Given the description of an element on the screen output the (x, y) to click on. 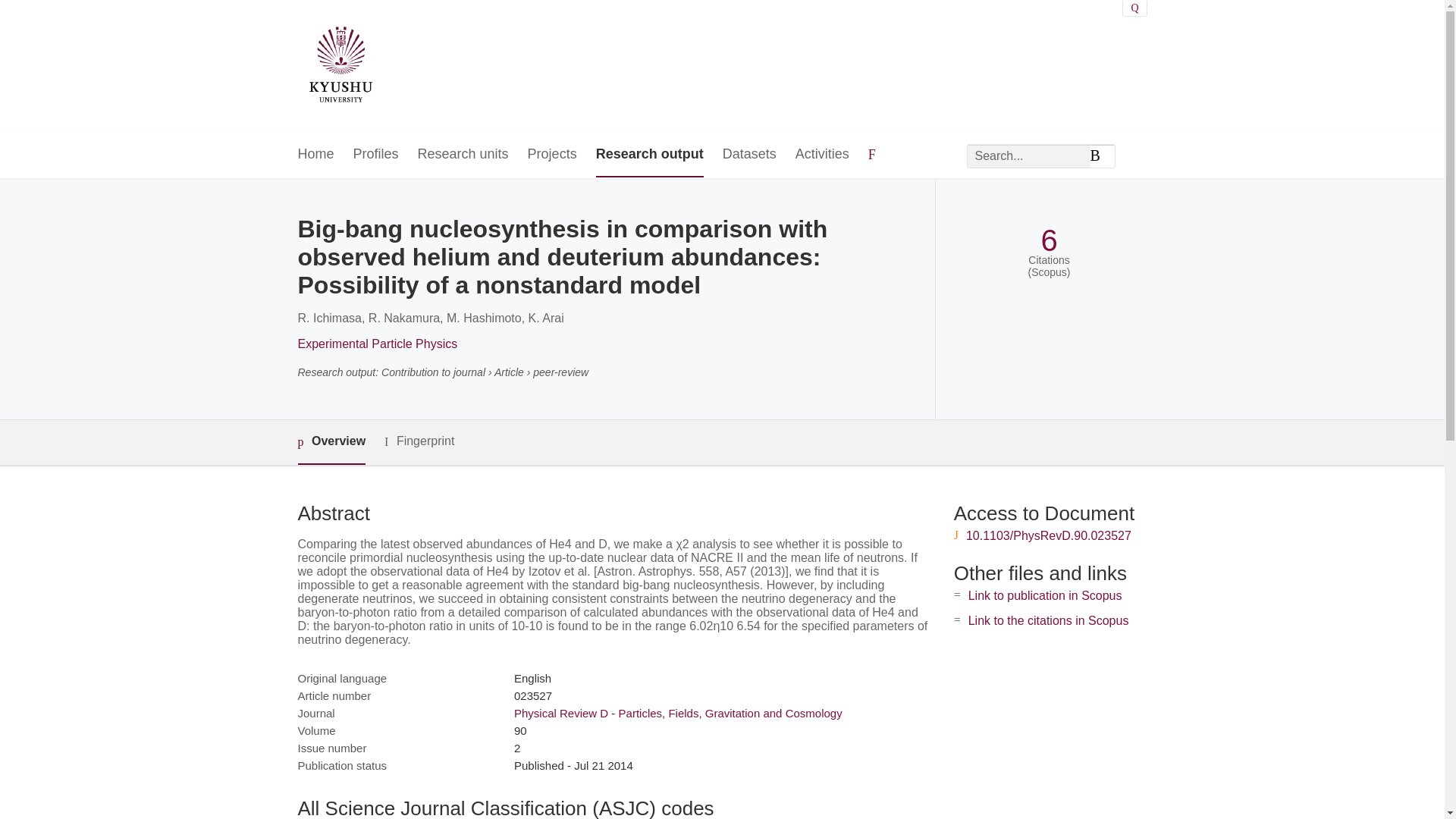
Link to the citations in Scopus (1048, 620)
Fingerprint (419, 441)
Activities (821, 154)
Experimental Particle Physics (377, 343)
Link to publication in Scopus (1045, 594)
Overview (331, 442)
Research units (462, 154)
Profiles (375, 154)
Projects (551, 154)
Datasets (749, 154)
Research output (649, 154)
